Given the description of an element on the screen output the (x, y) to click on. 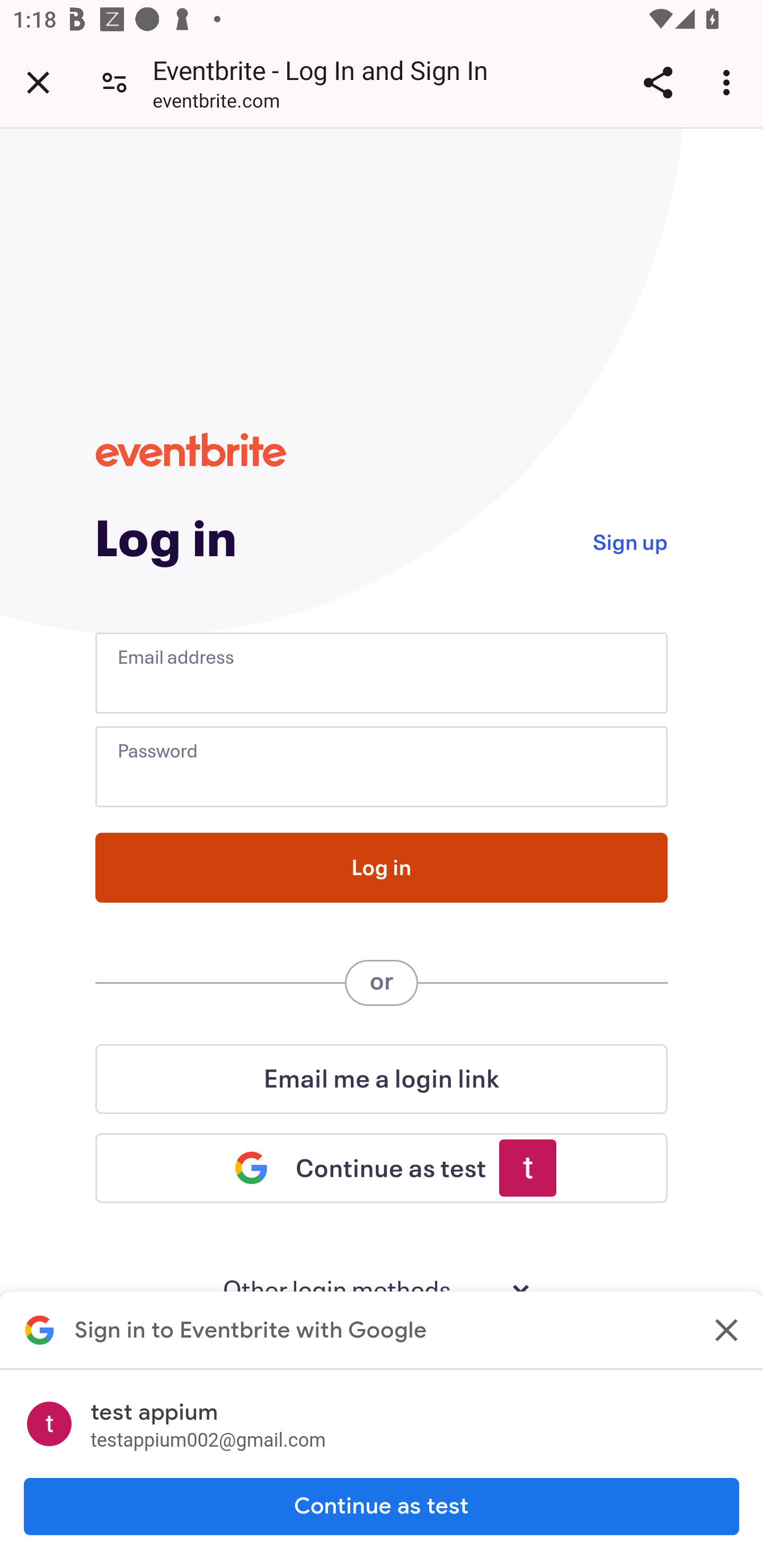
Close tab (38, 82)
Share (657, 82)
Customize and control Google Chrome (729, 82)
Connection is secure (114, 81)
eventbrite.com (216, 103)
www.eventbrite (190, 449)
Sign up (629, 540)
Log in (381, 867)
Email me a login link (381, 1078)
Close (725, 1329)
Continue as test (381, 1506)
